Given the description of an element on the screen output the (x, y) to click on. 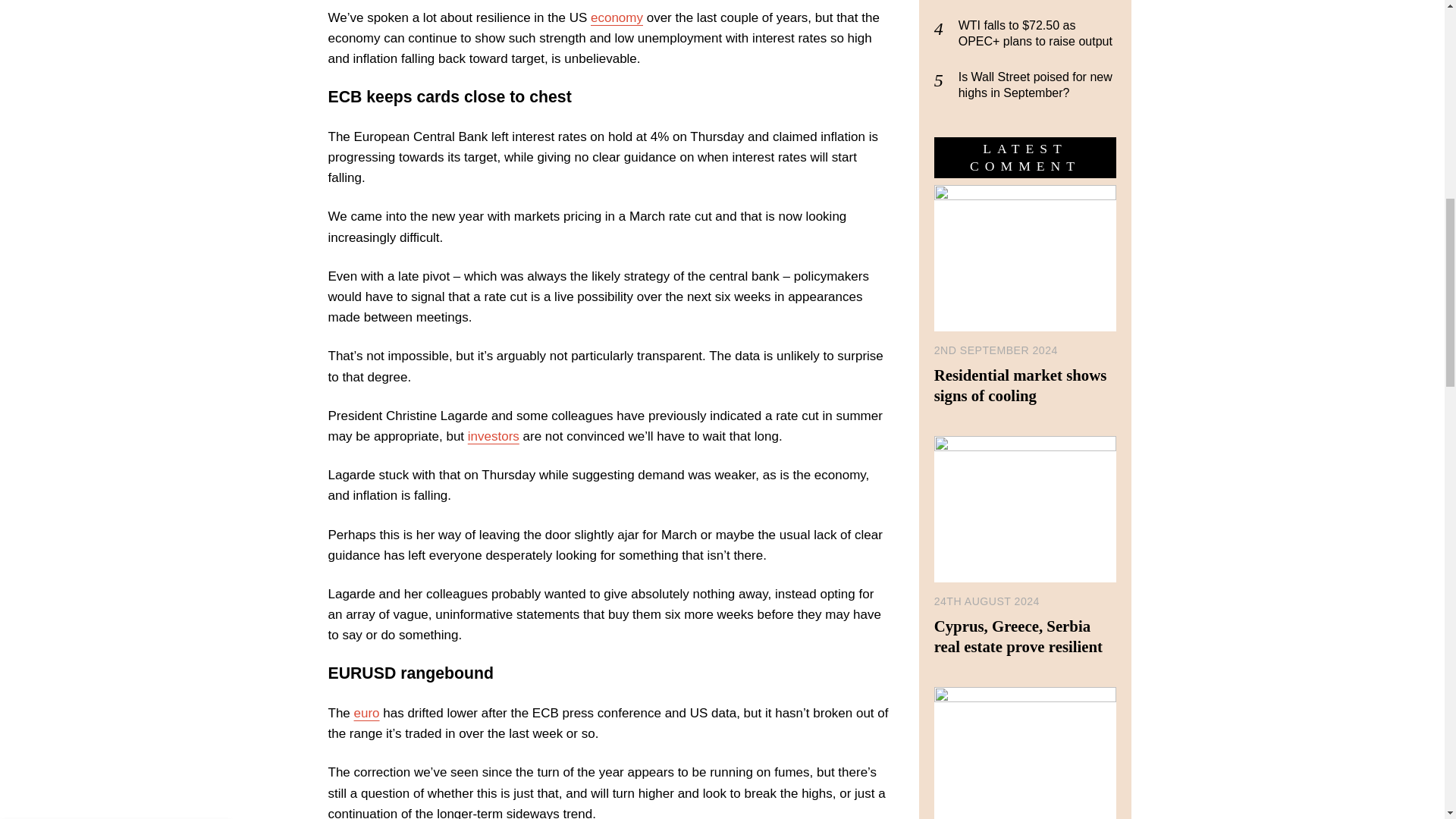
euro (366, 712)
economy (617, 17)
investors (493, 436)
